Given the description of an element on the screen output the (x, y) to click on. 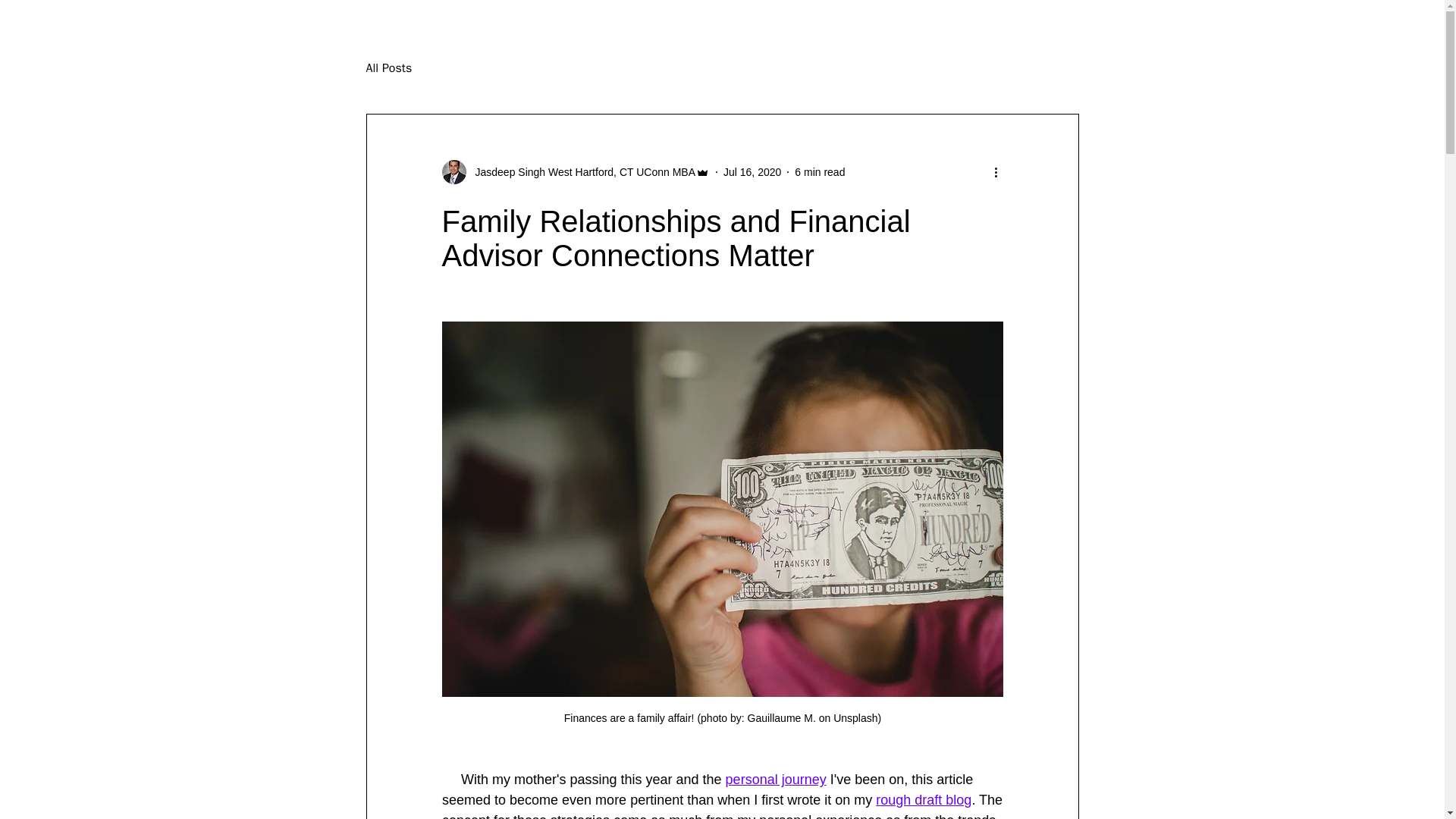
rough draft blog (923, 799)
Jul 16, 2020 (751, 171)
6 min read (819, 171)
All Posts (388, 68)
Jasdeep Singh West Hartford, CT UConn MBA (580, 171)
personal journey (775, 779)
